Given the description of an element on the screen output the (x, y) to click on. 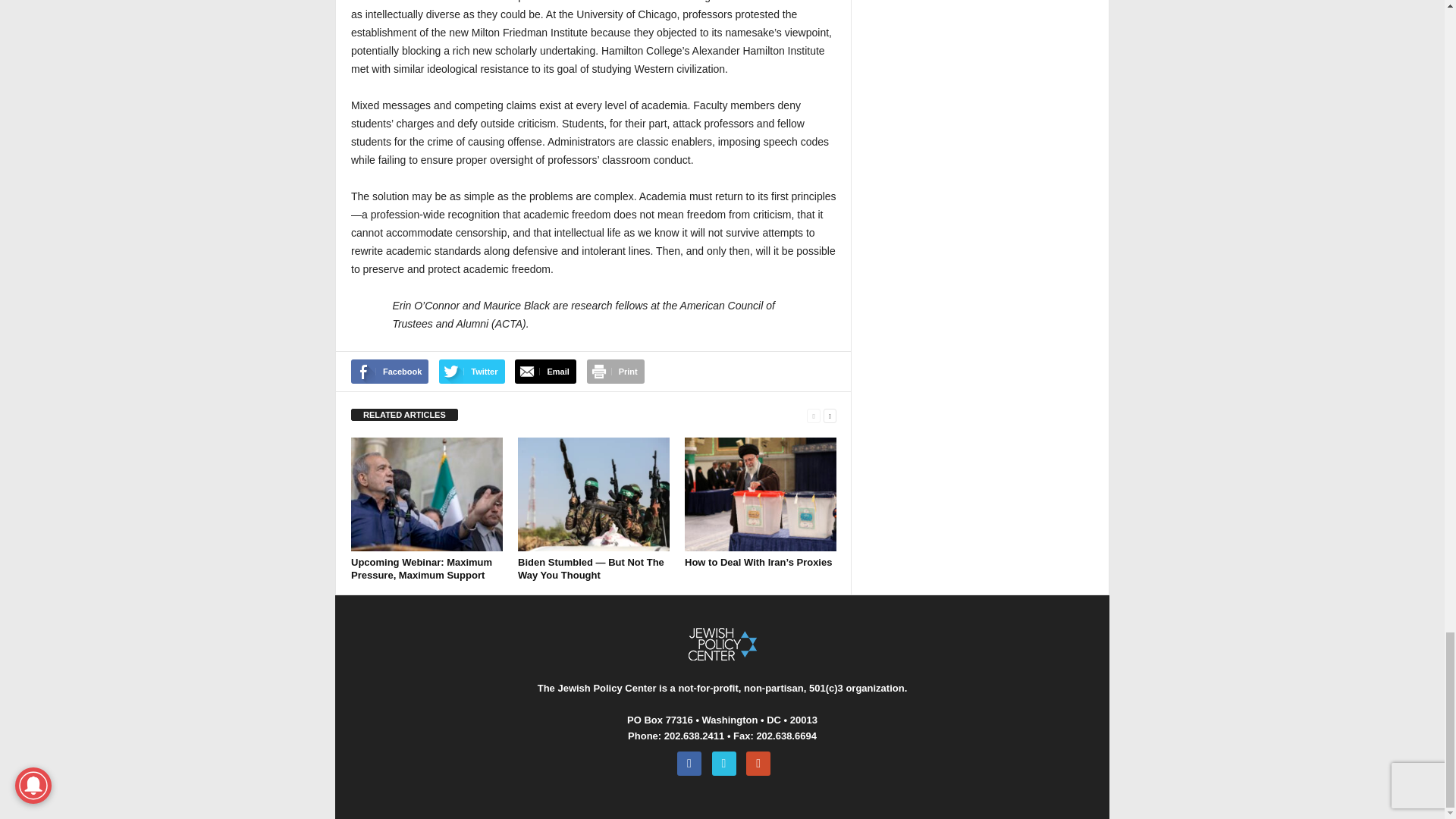
Upcoming Webinar: Maximum Pressure, Maximum Support (426, 494)
Upcoming Webinar: Maximum Pressure, Maximum Support (421, 568)
